Given the description of an element on the screen output the (x, y) to click on. 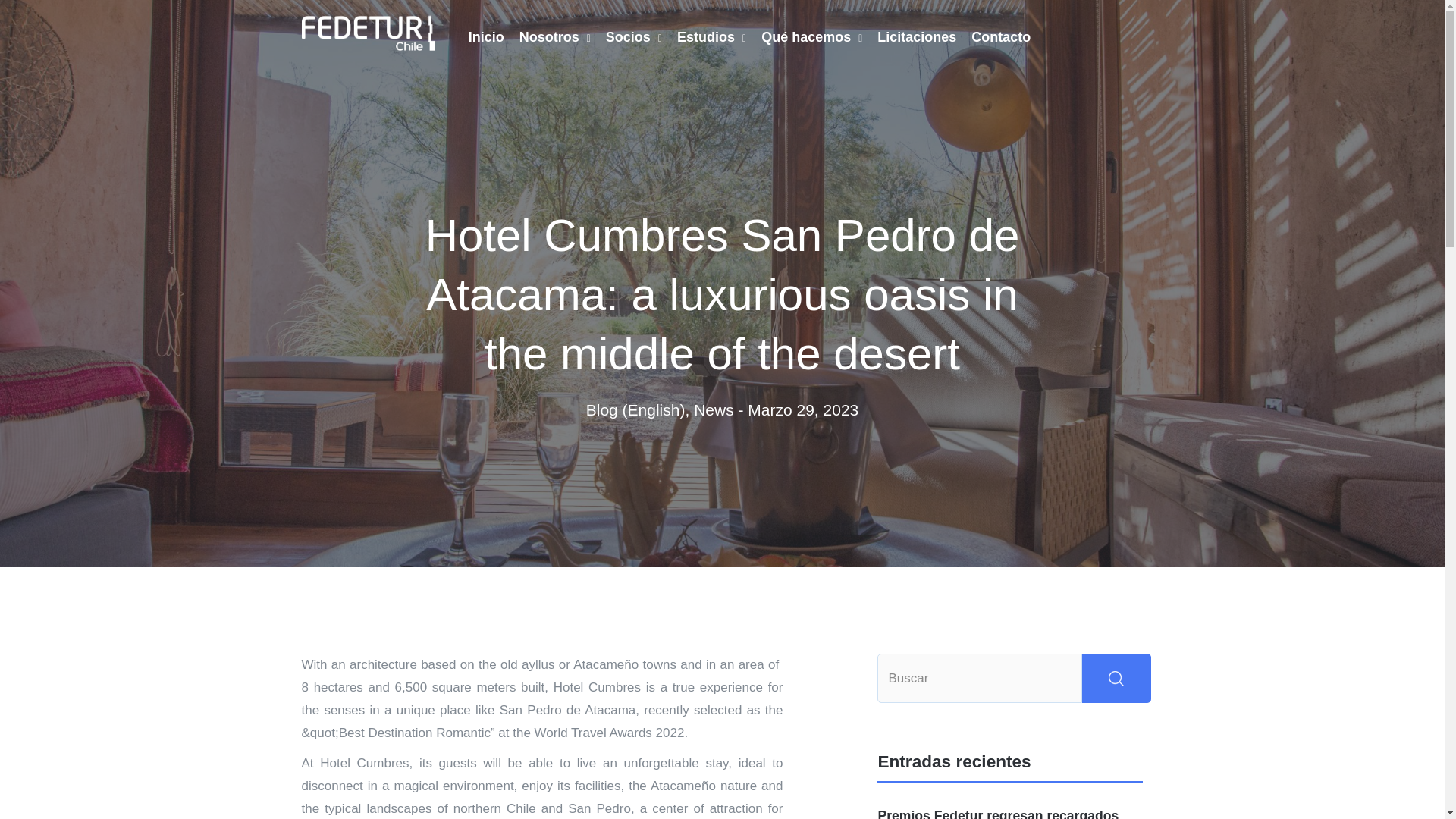
Nosotros (547, 37)
Socios (626, 37)
Estudios (703, 37)
Contacto (993, 37)
Licitaciones (908, 37)
